Given the description of an element on the screen output the (x, y) to click on. 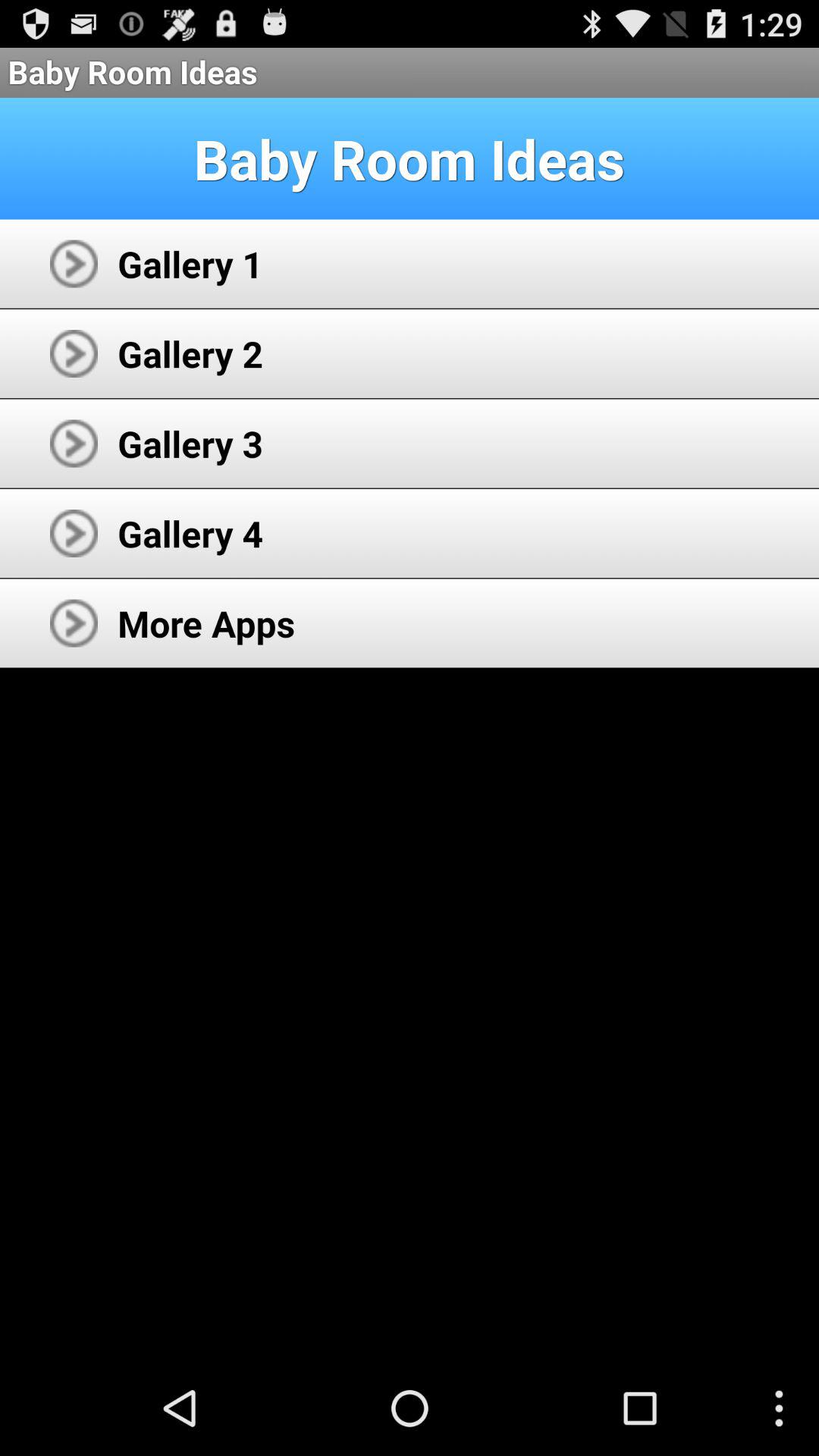
turn on gallery 1 (190, 263)
